Given the description of an element on the screen output the (x, y) to click on. 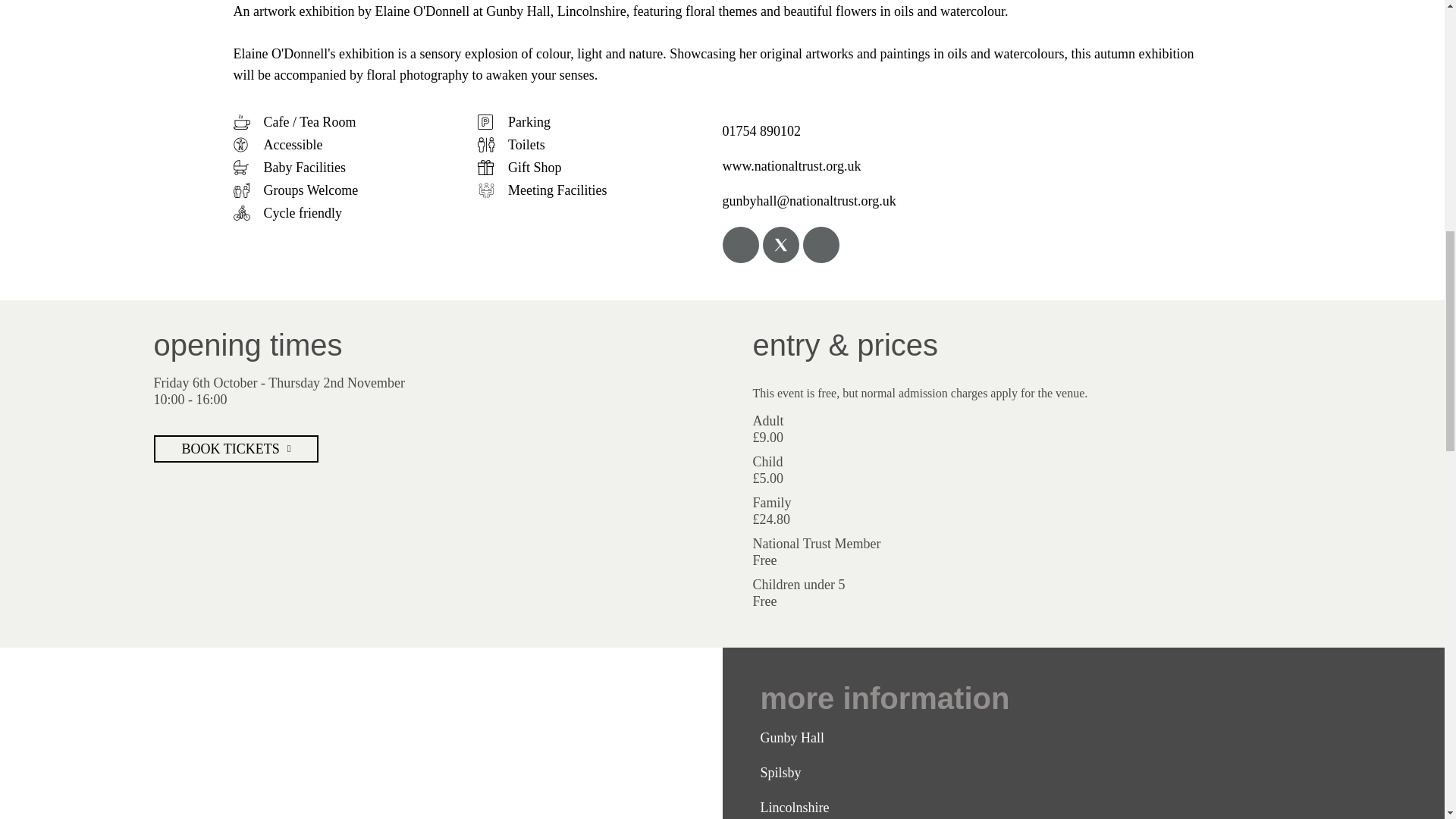
Gunby Hall (361, 733)
